Given the description of an element on the screen output the (x, y) to click on. 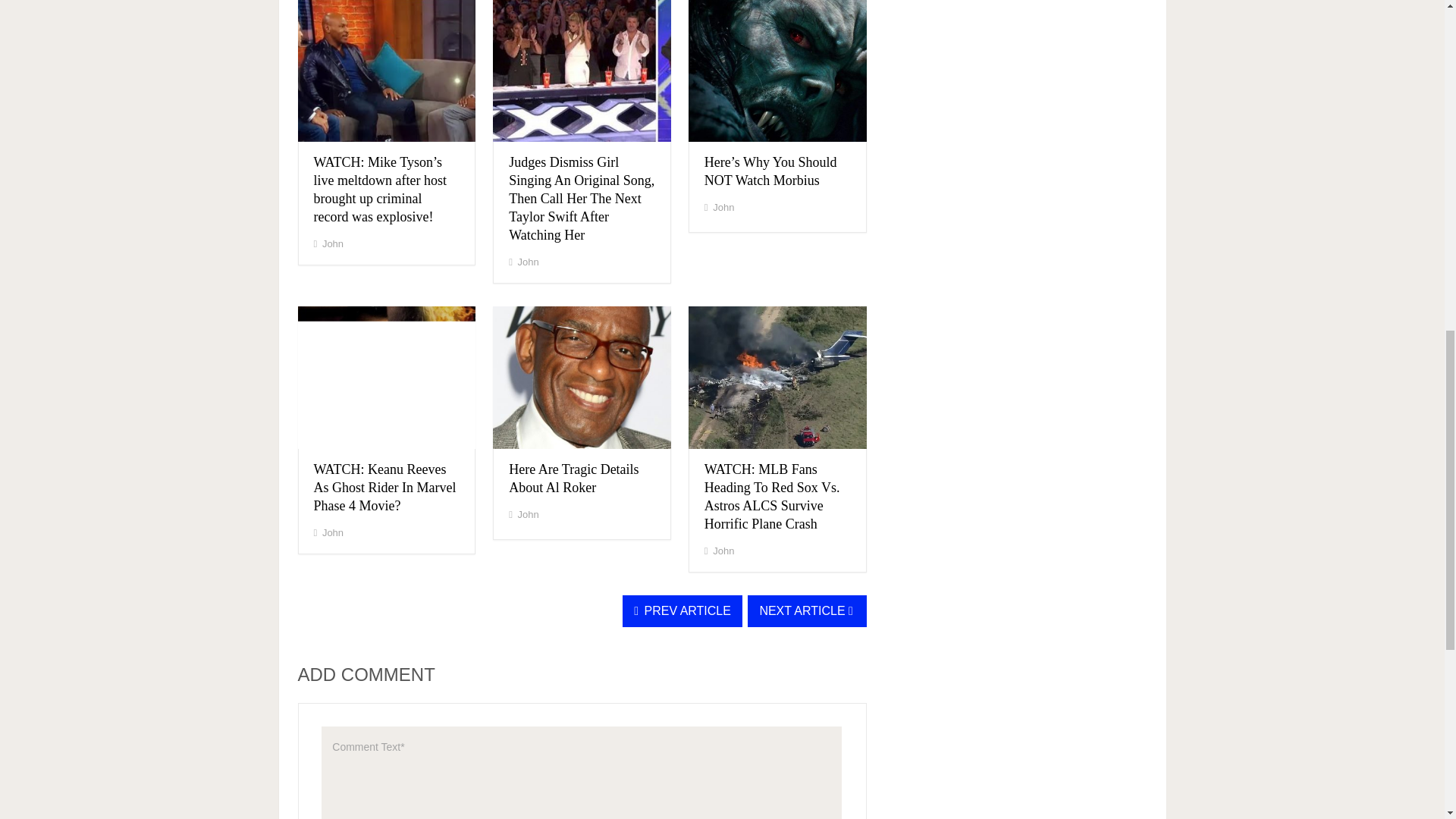
Posts by John (332, 243)
John (528, 261)
John (332, 243)
John (332, 532)
Posts by John (723, 206)
Posts by John (528, 261)
WATCH: Keanu Reeves As Ghost Rider In Marvel Phase 4 Movie? (385, 487)
John (723, 206)
